Given the description of an element on the screen output the (x, y) to click on. 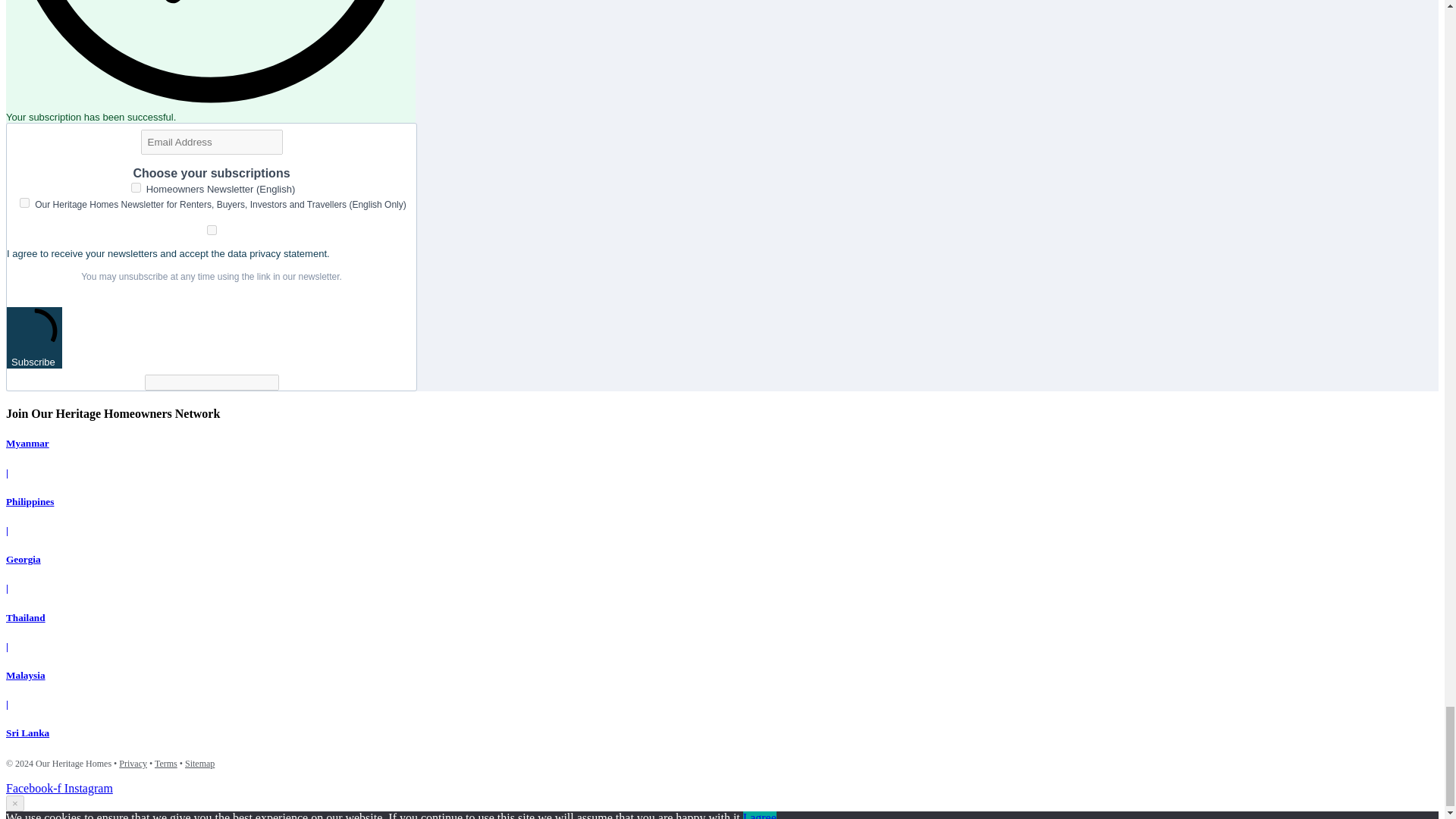
13 (136, 187)
20 (24, 203)
1 (211, 230)
